Given the description of an element on the screen output the (x, y) to click on. 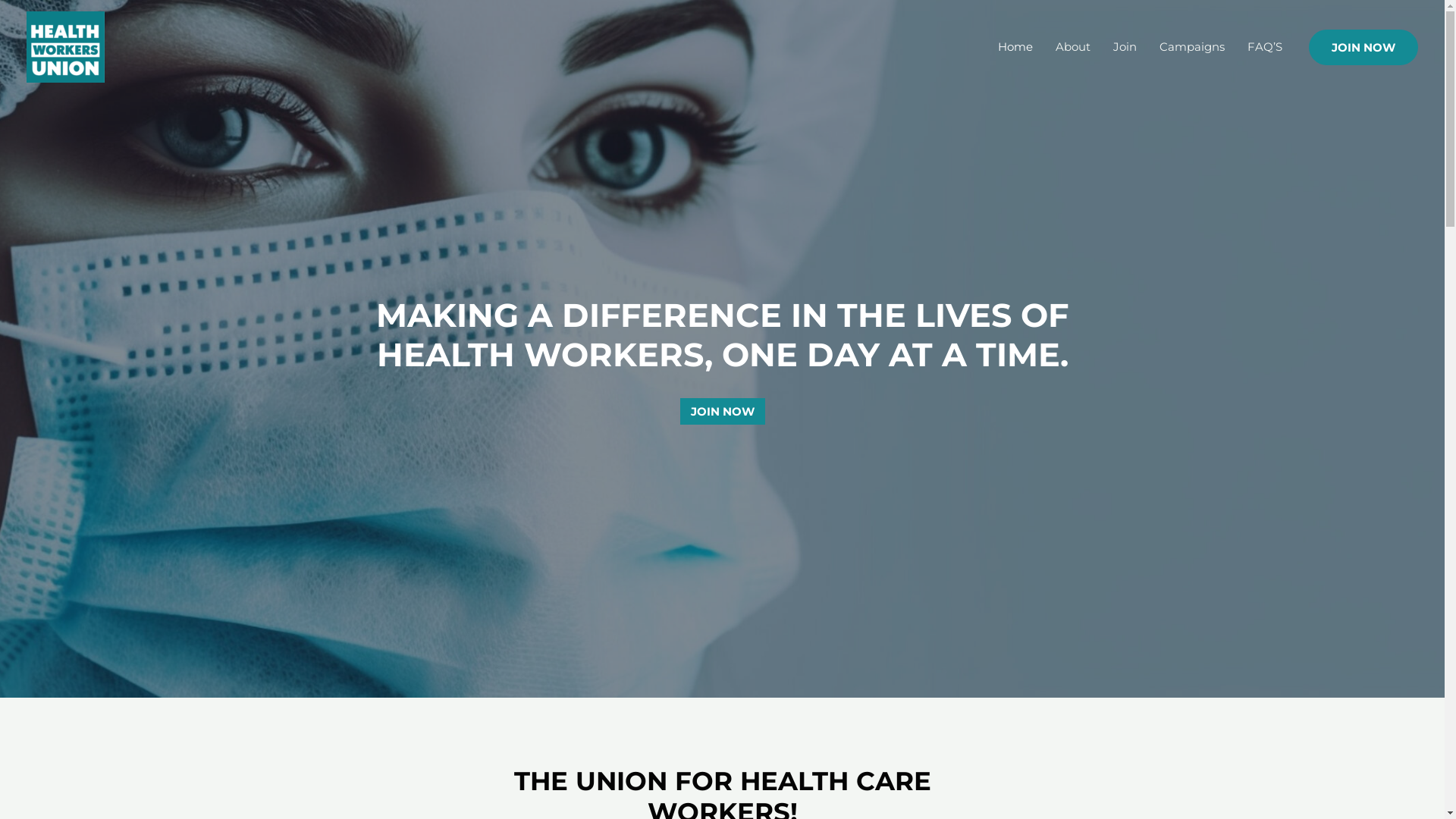
Join Element type: text (1124, 46)
About Element type: text (1072, 46)
JOIN NOW Element type: text (721, 411)
JOIN NOW Element type: text (1363, 46)
Campaigns Element type: text (1192, 46)
Home Element type: text (1015, 46)
